Given the description of an element on the screen output the (x, y) to click on. 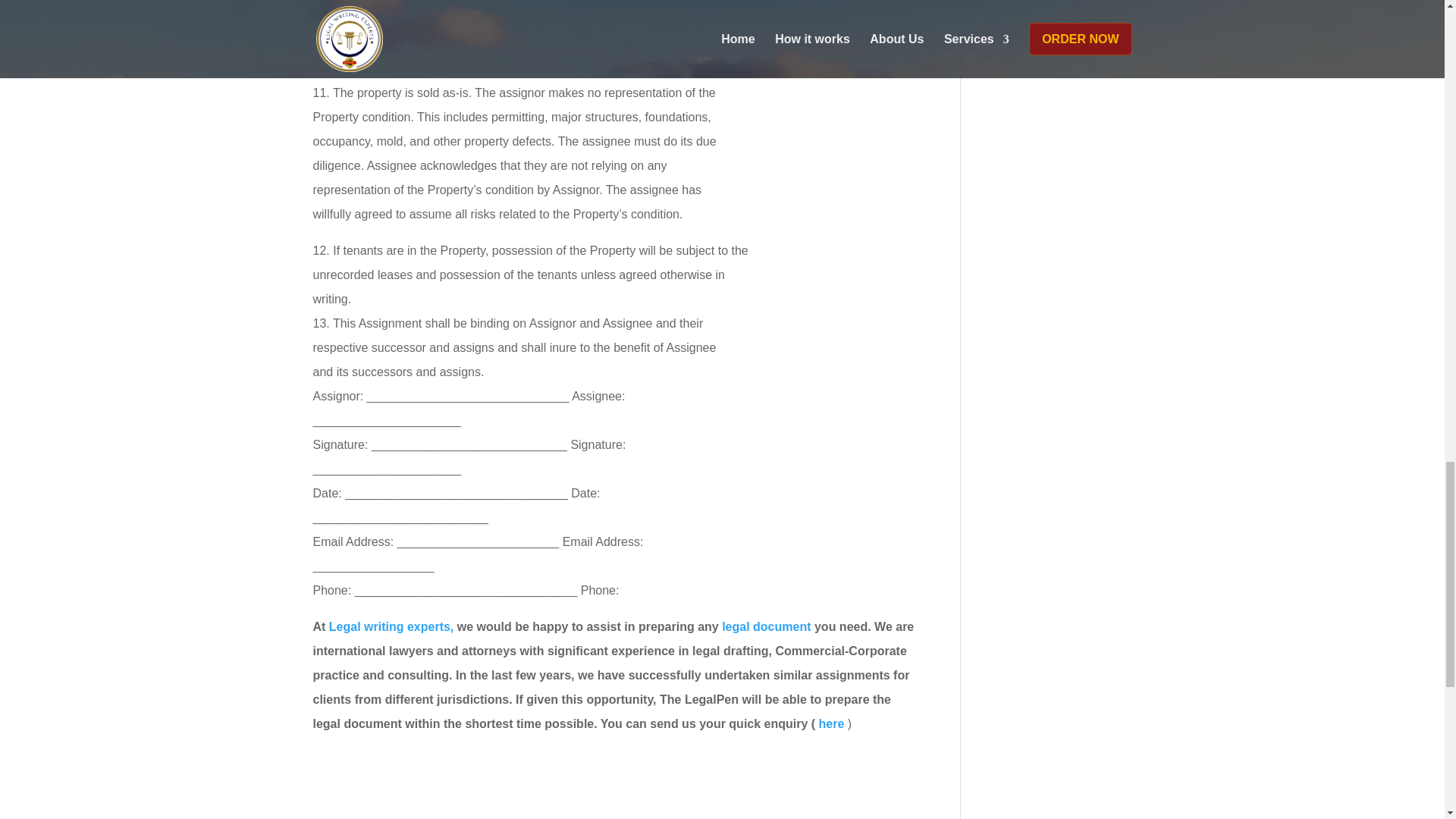
here  (832, 723)
legal document (766, 626)
Legal writing experts, (390, 626)
